Given the description of an element on the screen output the (x, y) to click on. 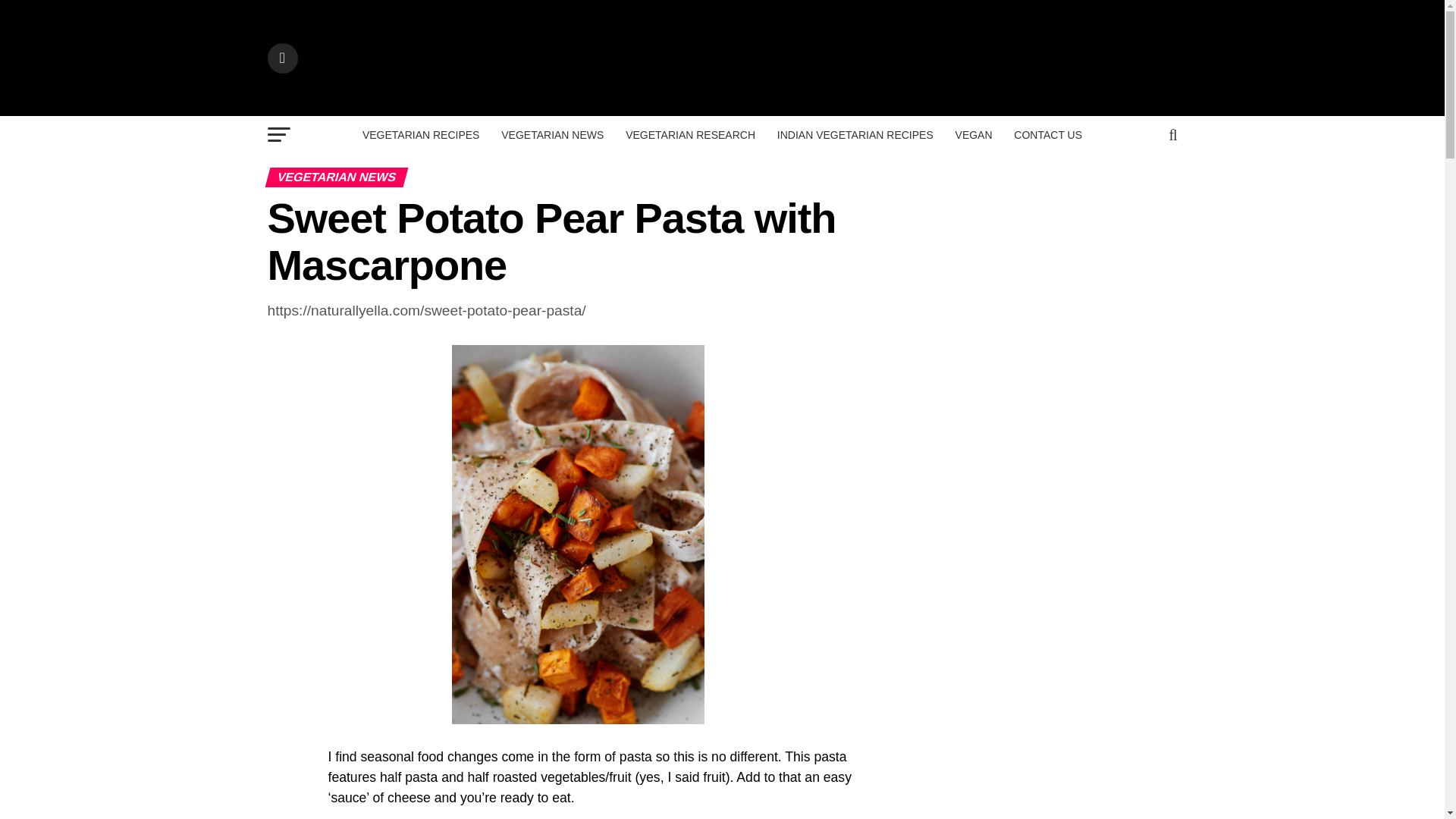
VEGETARIAN RECIPES (421, 134)
VEGAN (973, 134)
INDIAN VEGETARIAN RECIPES (855, 134)
VEGETARIAN NEWS (552, 134)
VEGETARIAN RESEARCH (689, 134)
